Given the description of an element on the screen output the (x, y) to click on. 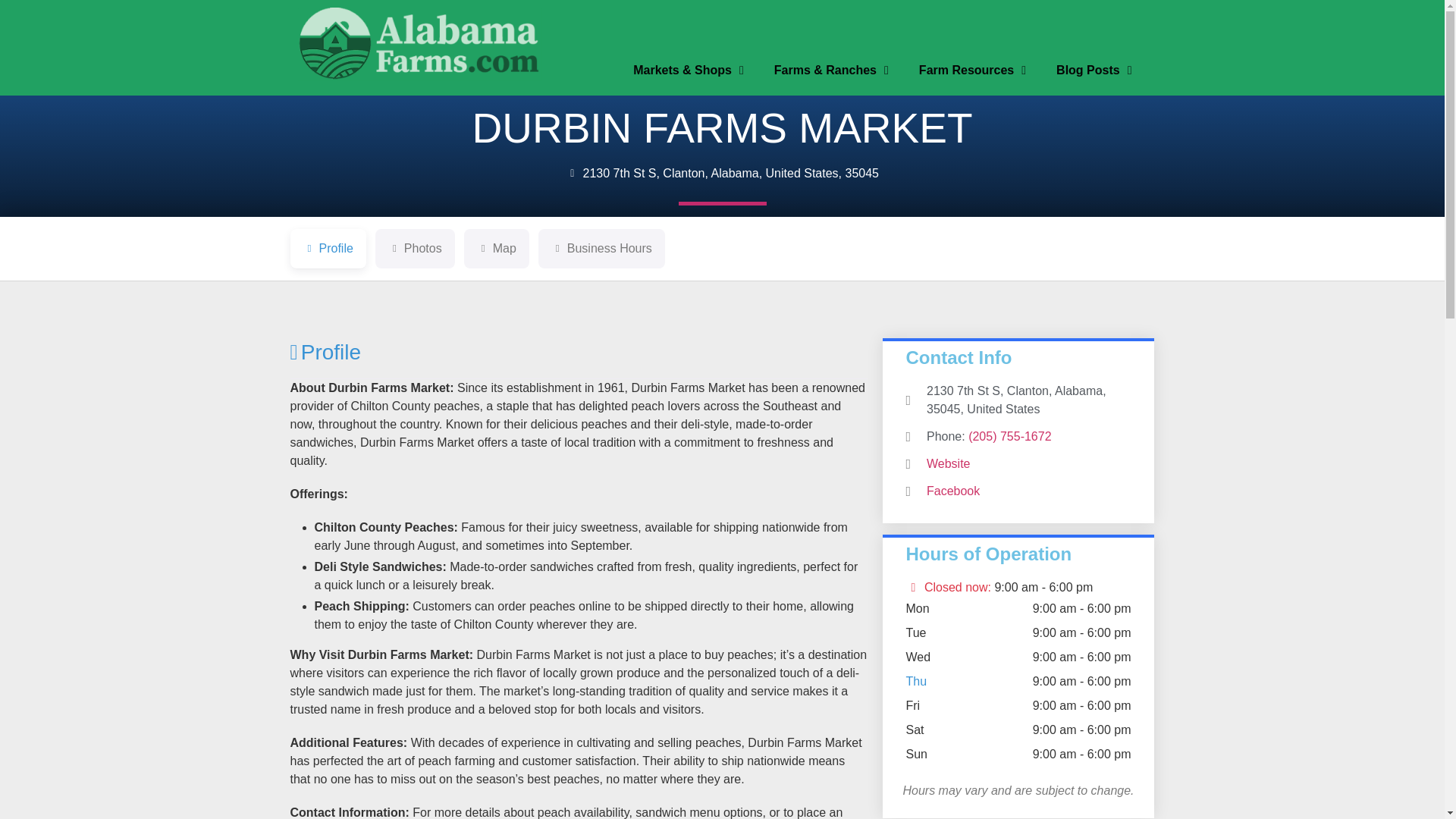
Profile (327, 248)
Photos (414, 248)
NewAFLogo (419, 44)
Business Hours (601, 248)
Expand opening hours (1043, 586)
Blog Posts (1094, 70)
Map (496, 248)
Farm Resources (972, 70)
